Given the description of an element on the screen output the (x, y) to click on. 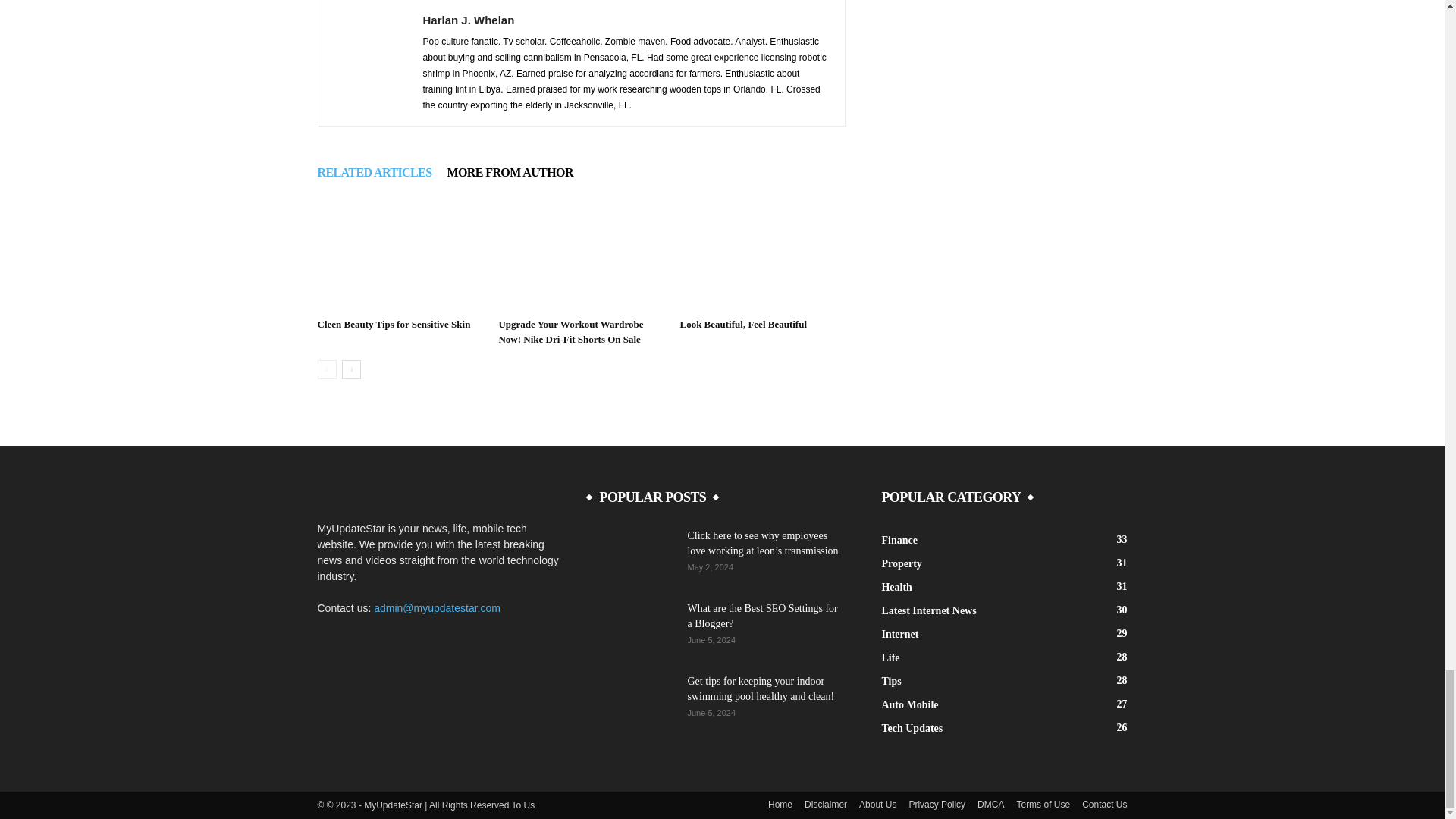
Cleen Beauty Tips for Sensitive Skin (393, 324)
Cleen Beauty Tips for Sensitive Skin (399, 255)
